Given the description of an element on the screen output the (x, y) to click on. 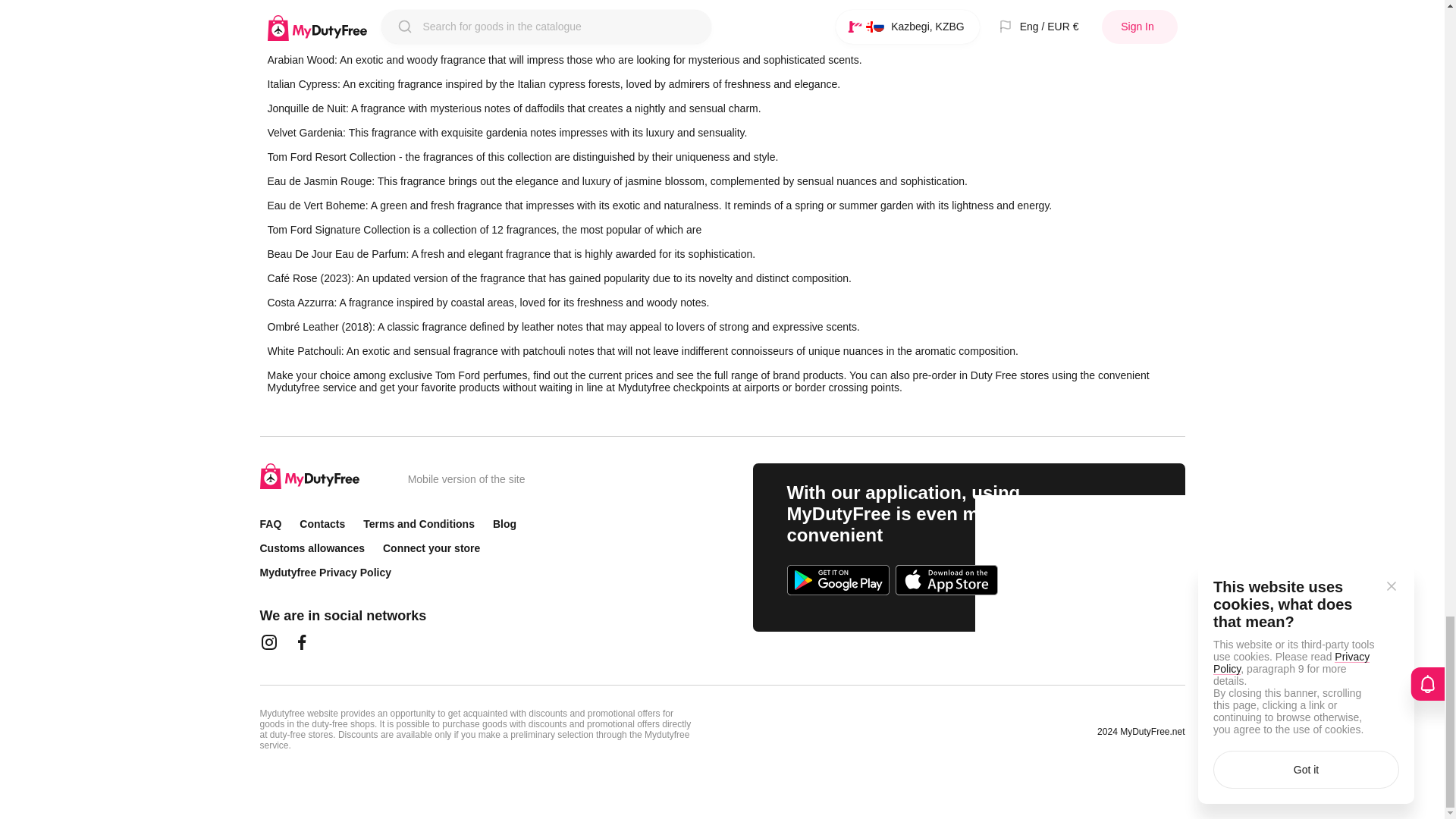
Blog (504, 523)
FAQ (270, 523)
Mobile version of the site (466, 479)
Terms and Conditions (418, 523)
Contacts (322, 523)
